Given the description of an element on the screen output the (x, y) to click on. 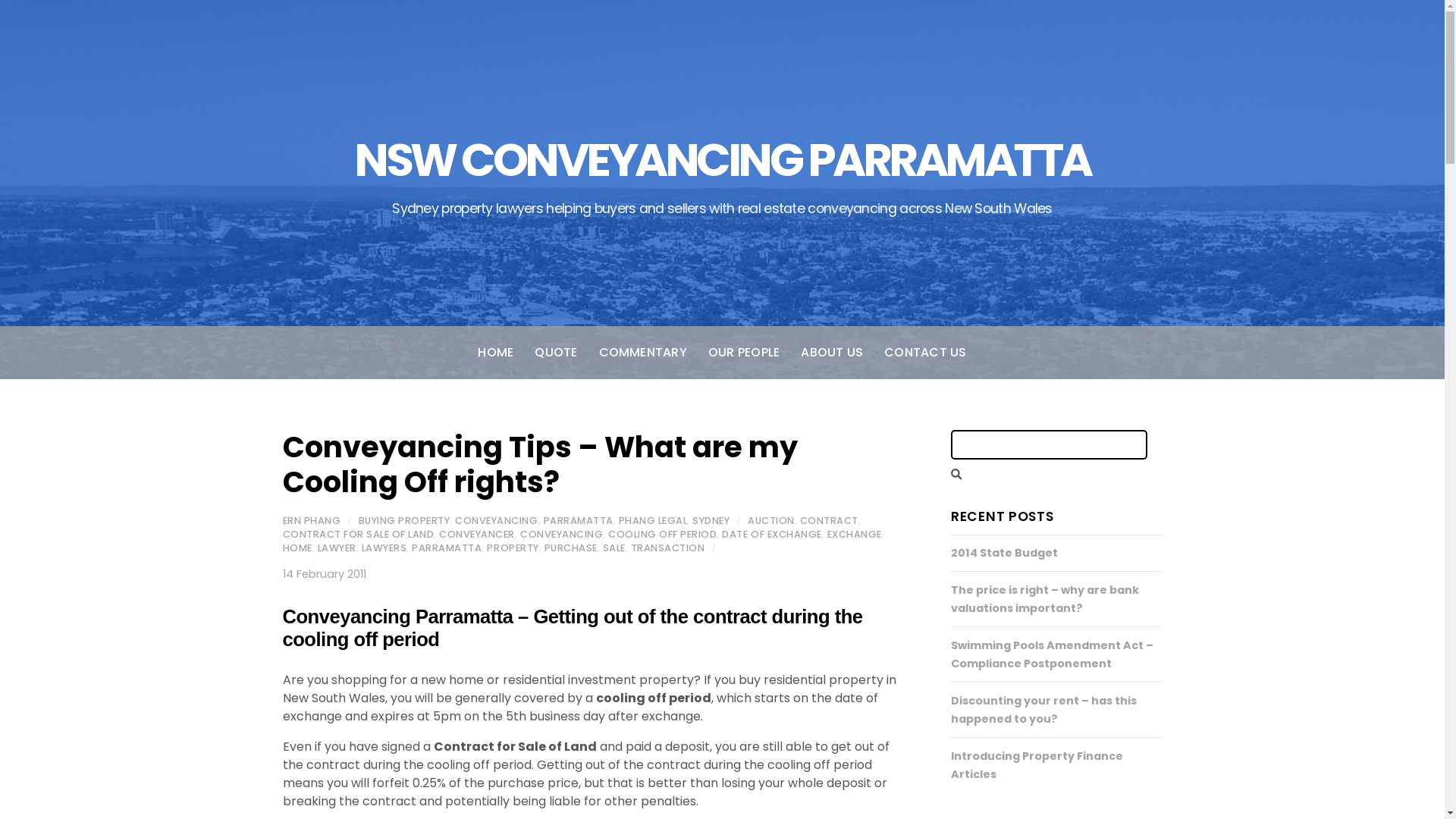
LAWYERS Element type: text (384, 547)
CONTRACT FOR SALE OF LAND Element type: text (357, 533)
QUOTE Element type: text (555, 352)
Introducing Property Finance Articles Element type: text (1036, 764)
NSW CONVEYANCING PARRAMATTA Element type: text (722, 159)
LAWYER Element type: text (336, 547)
COOLING OFF PERIOD Element type: text (662, 533)
ABOUT US Element type: text (831, 352)
SALE Element type: text (613, 547)
PURCHASE Element type: text (570, 547)
BUYING PROPERTY Element type: text (404, 520)
COMMENTARY Element type: text (643, 352)
CONVEYANCING Element type: text (561, 533)
CONTRACT Element type: text (829, 520)
CONTACT US Element type: text (925, 352)
PROPERTY Element type: text (512, 547)
CONVEYANCING Element type: text (496, 520)
HOME Element type: text (296, 547)
HOME Element type: text (495, 352)
TRANSACTION Element type: text (667, 547)
AUCTION Element type: text (770, 520)
PARRAMATTA Element type: text (578, 520)
PHANG LEGAL Element type: text (652, 520)
Search Element type: hover (1048, 444)
CONVEYANCER Element type: text (476, 533)
DATE OF EXCHANGE Element type: text (771, 533)
PARRAMATTA Element type: text (446, 547)
2014 State Budget Element type: text (1003, 552)
ERN PHANG Element type: text (311, 520)
OUR PEOPLE Element type: text (743, 352)
EXCHANGE Element type: text (854, 533)
SYDNEY Element type: text (710, 520)
